Given the description of an element on the screen output the (x, y) to click on. 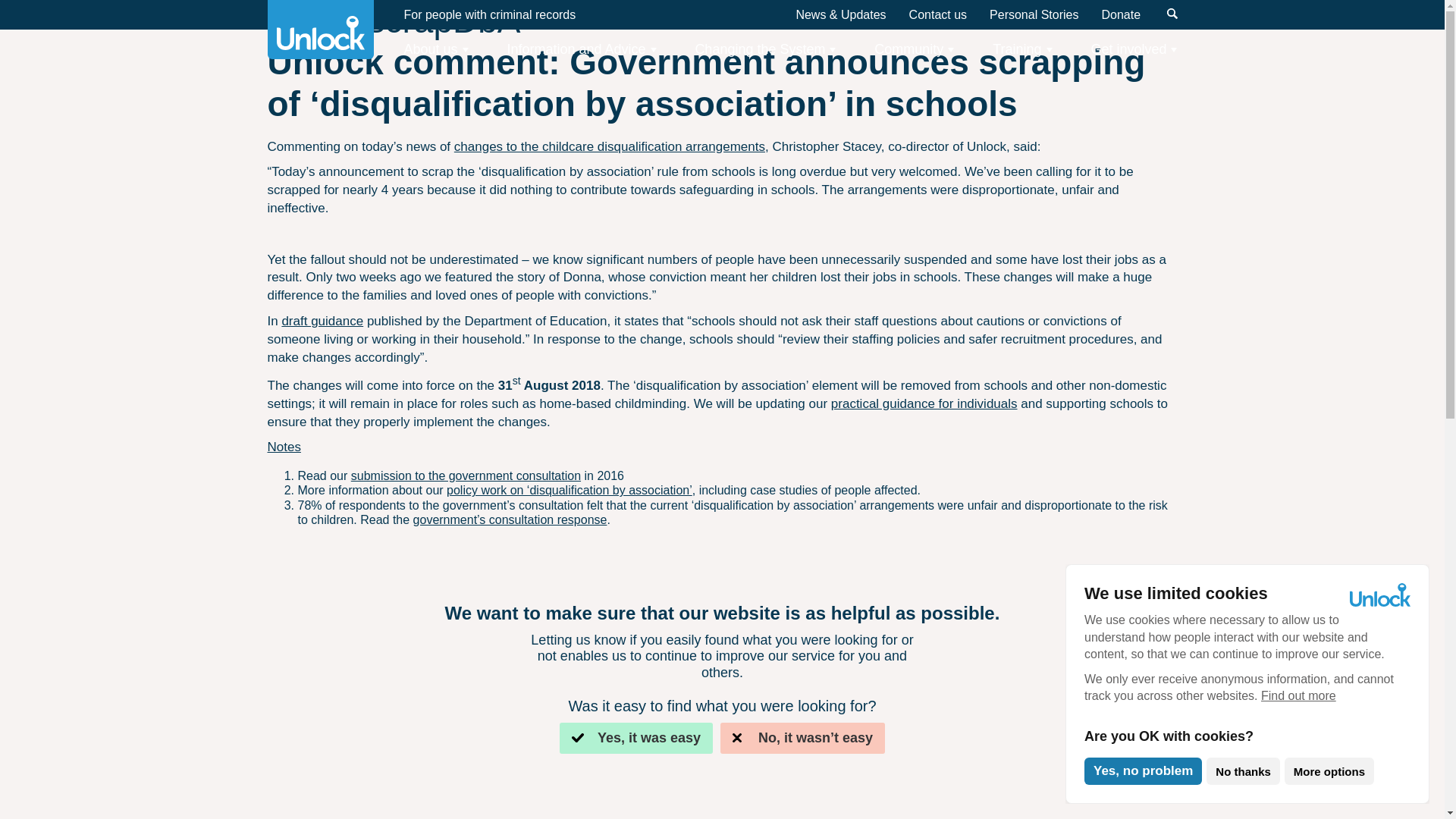
Changing the System (764, 49)
About us (435, 49)
Donate (1120, 14)
Personal Stories (1034, 14)
Contact us (937, 14)
Information and Advice (581, 49)
